Given the description of an element on the screen output the (x, y) to click on. 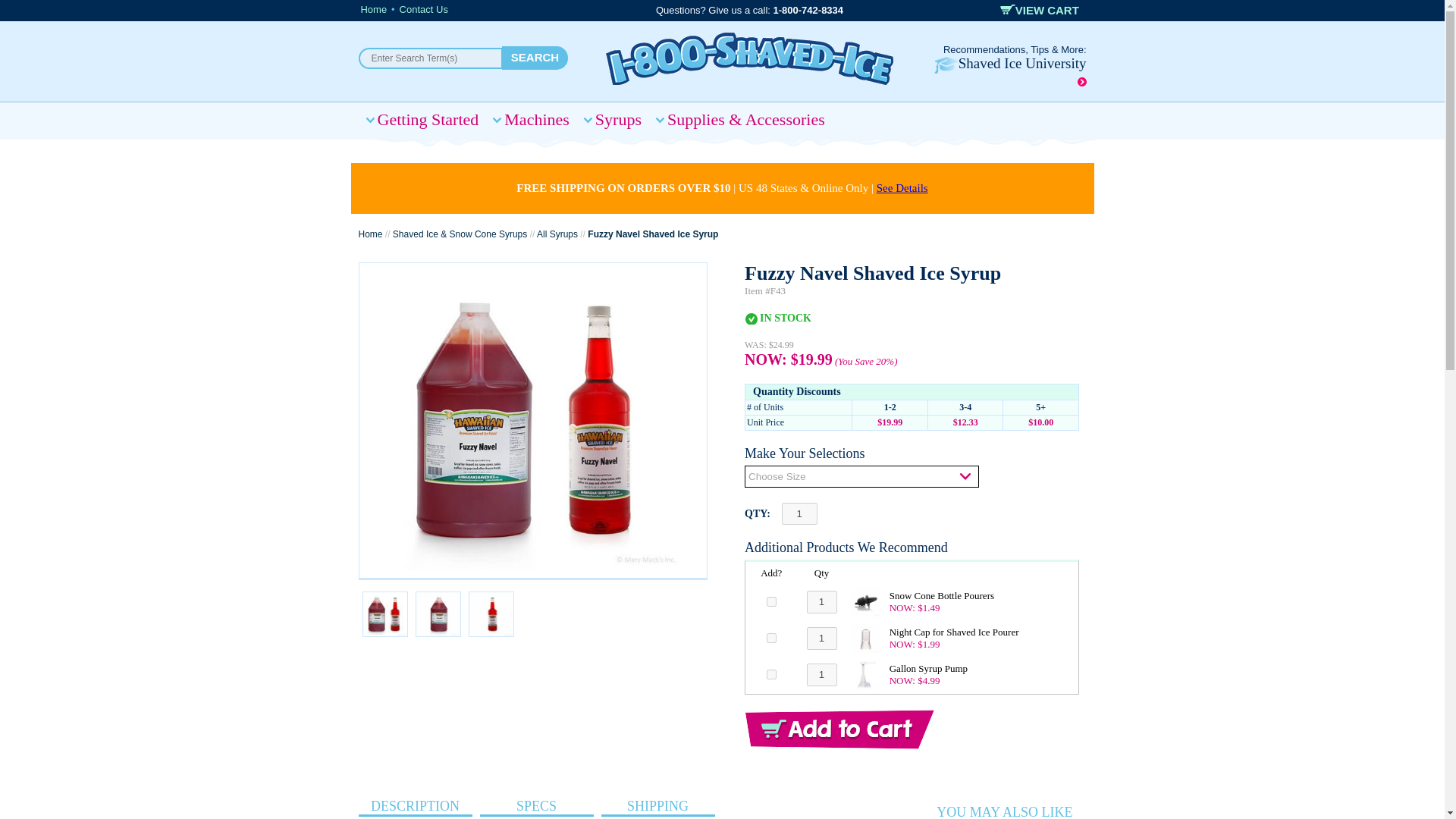
Syrups (611, 119)
SEARCH (534, 57)
1 (821, 601)
Contact Us (423, 9)
c-syr-pum (771, 674)
c-nit-cap (771, 637)
c-reg-pou (771, 601)
Fuzzy Navel Shaved Ice Syrup (532, 420)
SEARCH (534, 57)
Machines (530, 119)
